Given the description of an element on the screen output the (x, y) to click on. 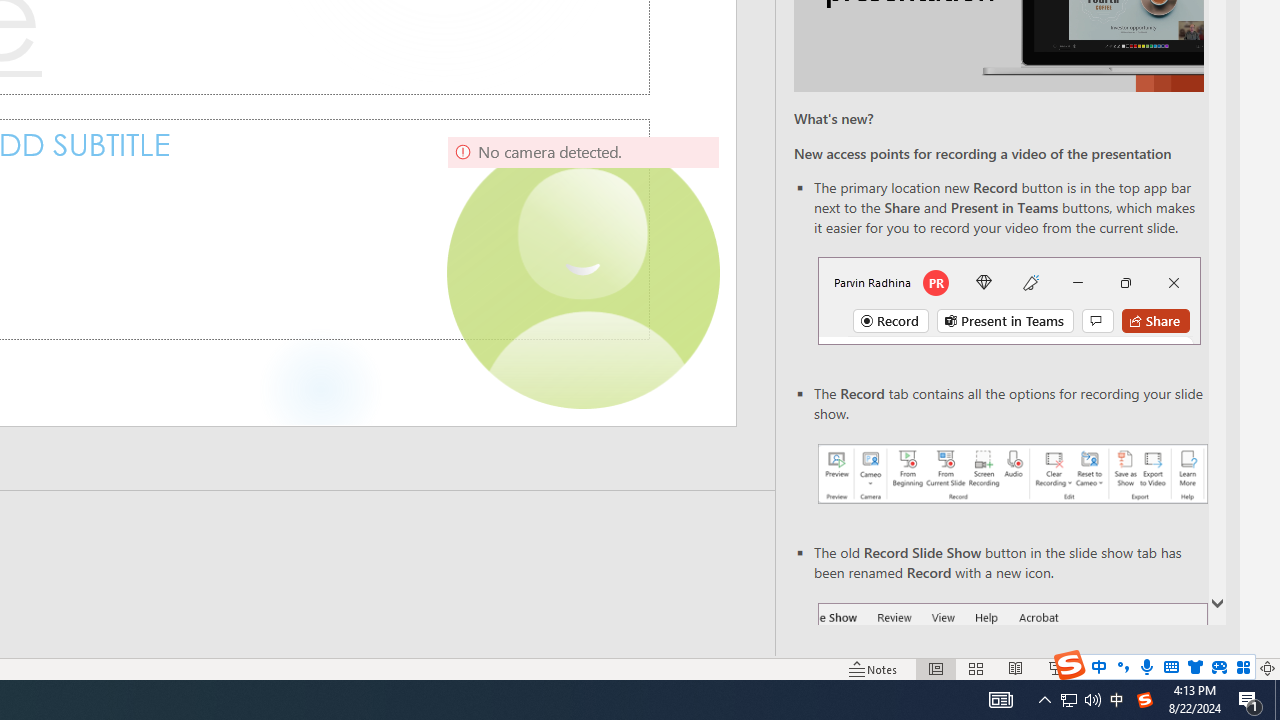
Record button in top bar (1008, 300)
Record your presentations screenshot one (1012, 473)
Zoom 129% (1234, 668)
